Given the description of an element on the screen output the (x, y) to click on. 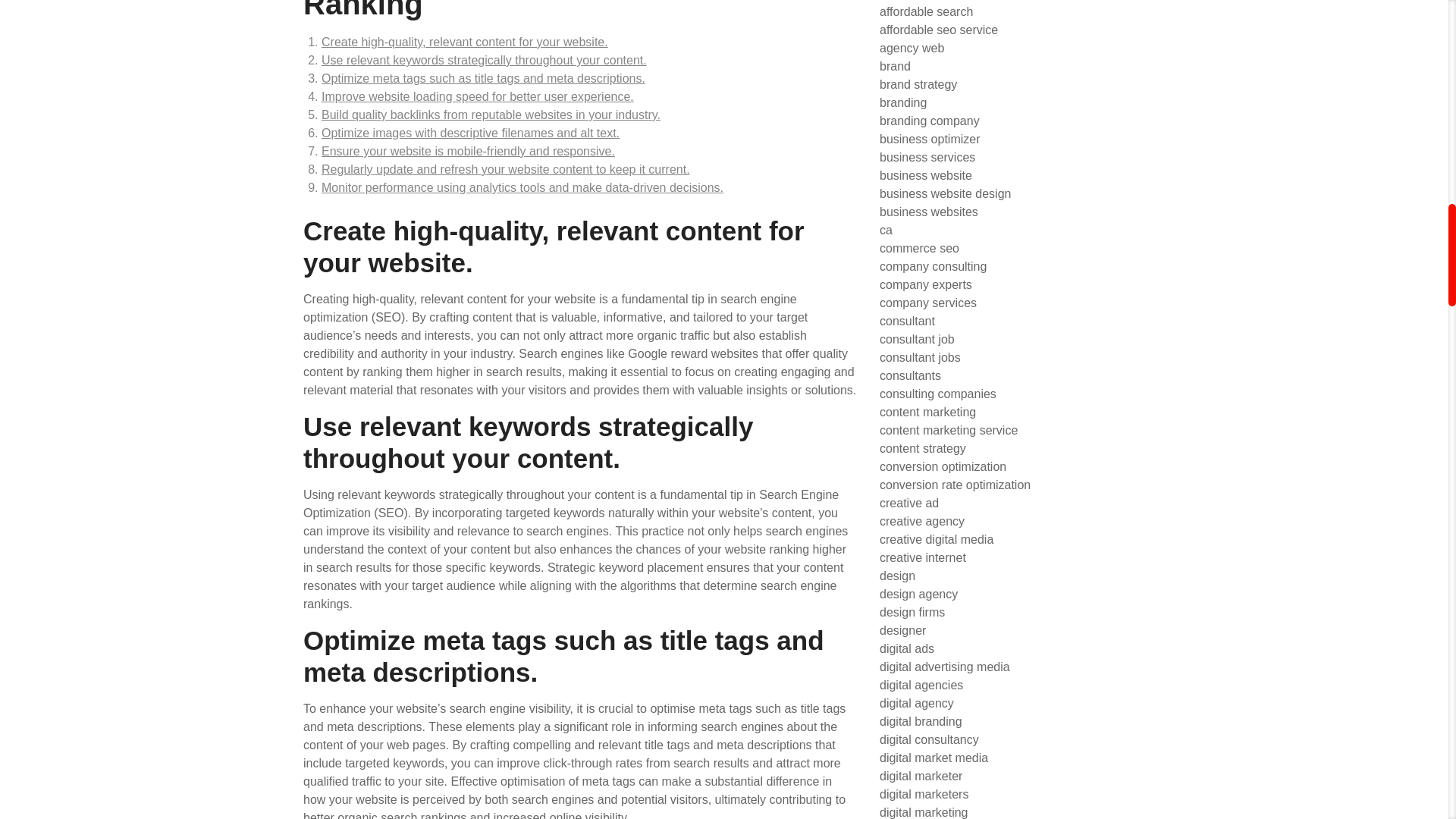
Create high-quality, relevant content for your website. (464, 42)
Improve website loading speed for better user experience. (477, 96)
Use relevant keywords strategically throughout your content. (483, 60)
Ensure your website is mobile-friendly and responsive. (467, 151)
Optimize images with descriptive filenames and alt text. (470, 132)
Optimize meta tags such as title tags and meta descriptions. (483, 78)
